Given the description of an element on the screen output the (x, y) to click on. 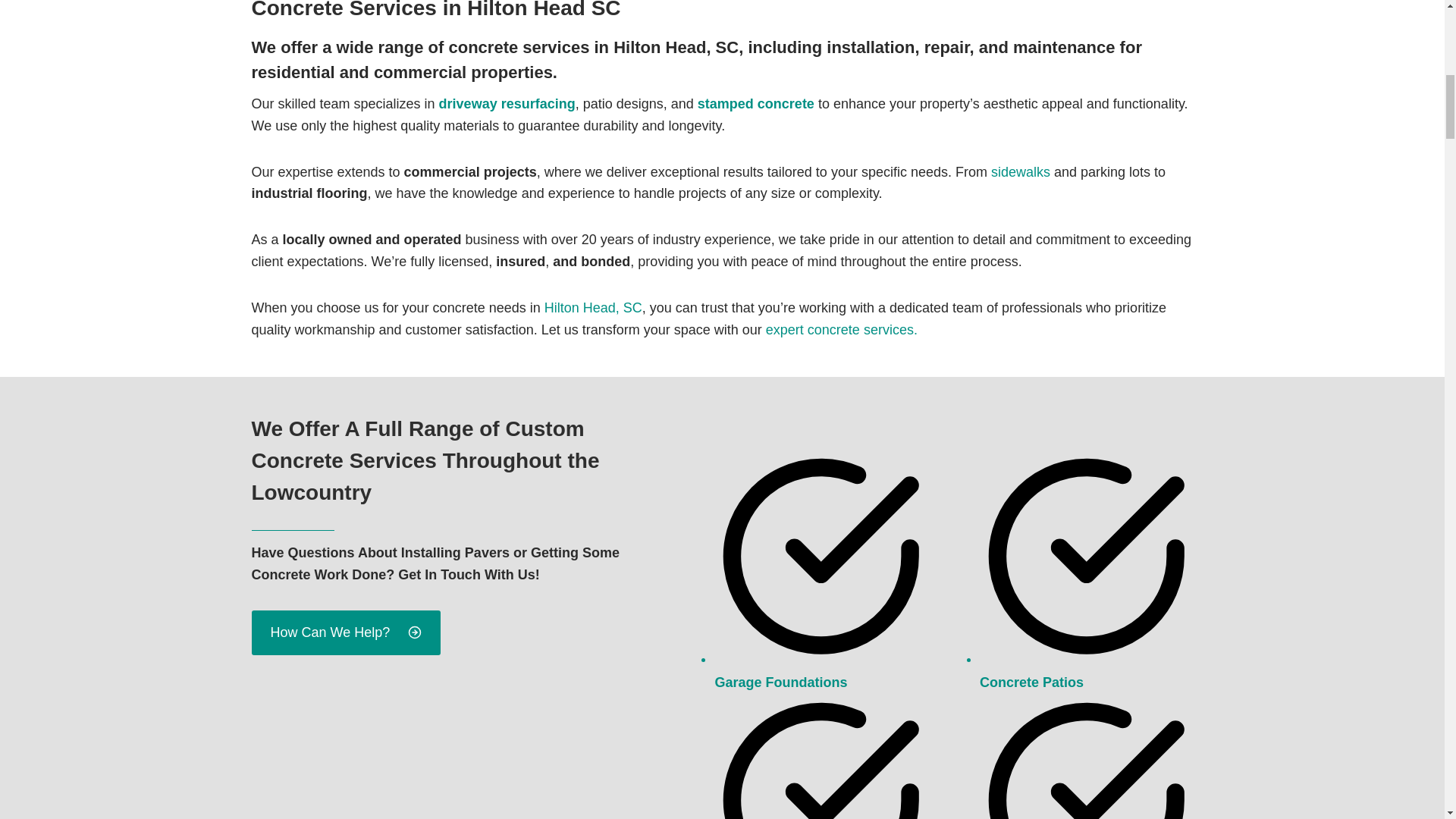
sidewalks (1020, 171)
driveway resurfacing (507, 103)
stamped concrete (755, 103)
Garage Foundations (780, 682)
Hilton Head, SC (593, 307)
expert concrete services. (841, 329)
How Can We Help? (346, 632)
